Given the description of an element on the screen output the (x, y) to click on. 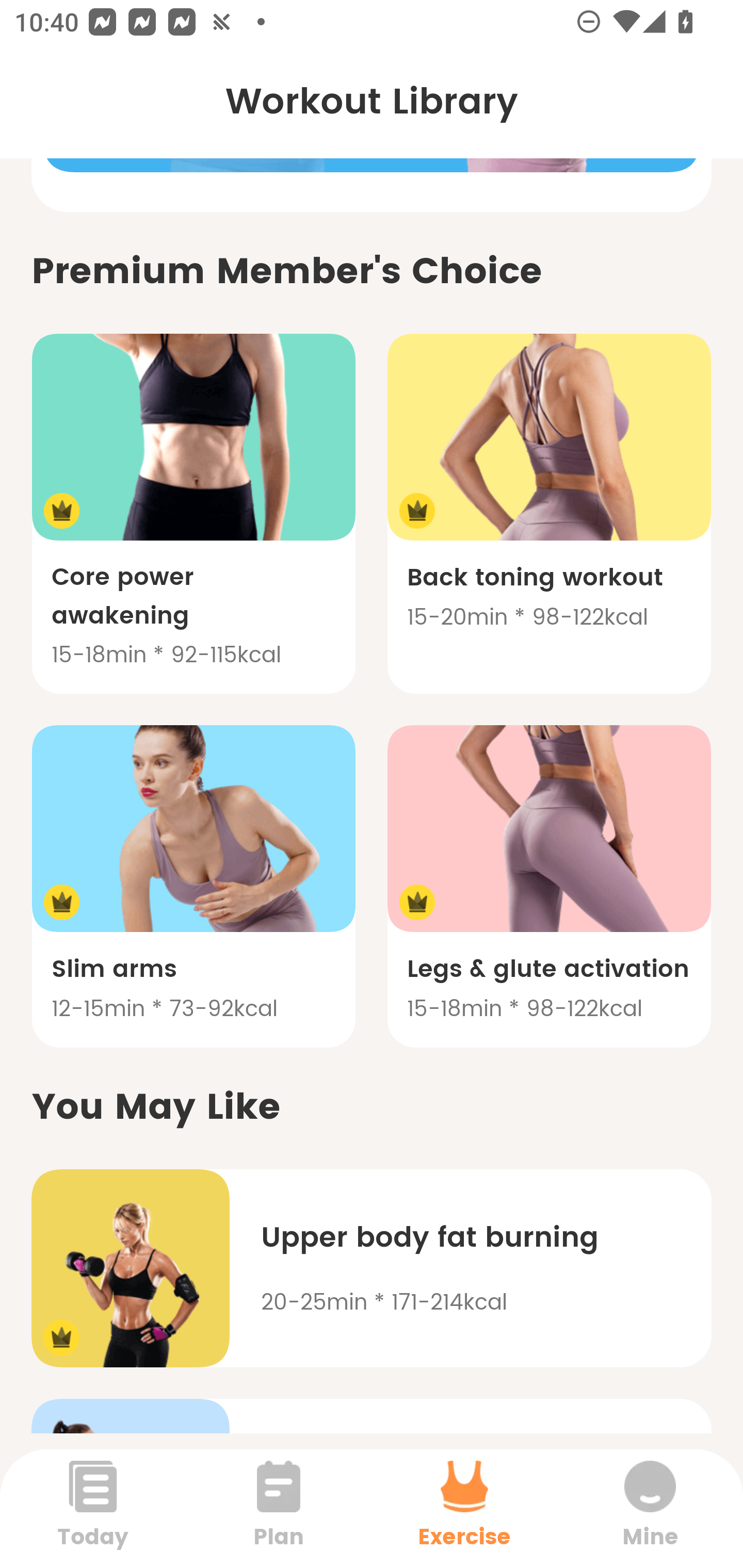
Core power awakening 15-18min * 92-115kcal (193, 513)
Back toning workout 15-20min * 98-122kcal (549, 513)
Slim arms 12-15min * 73-92kcal (193, 885)
Legs & glute activation 15-18min * 98-122kcal (549, 885)
Upper body fat burning 20-25min * 171-214kcal (371, 1268)
Today (92, 1508)
Plan (278, 1508)
Mine (650, 1508)
